Given the description of an element on the screen output the (x, y) to click on. 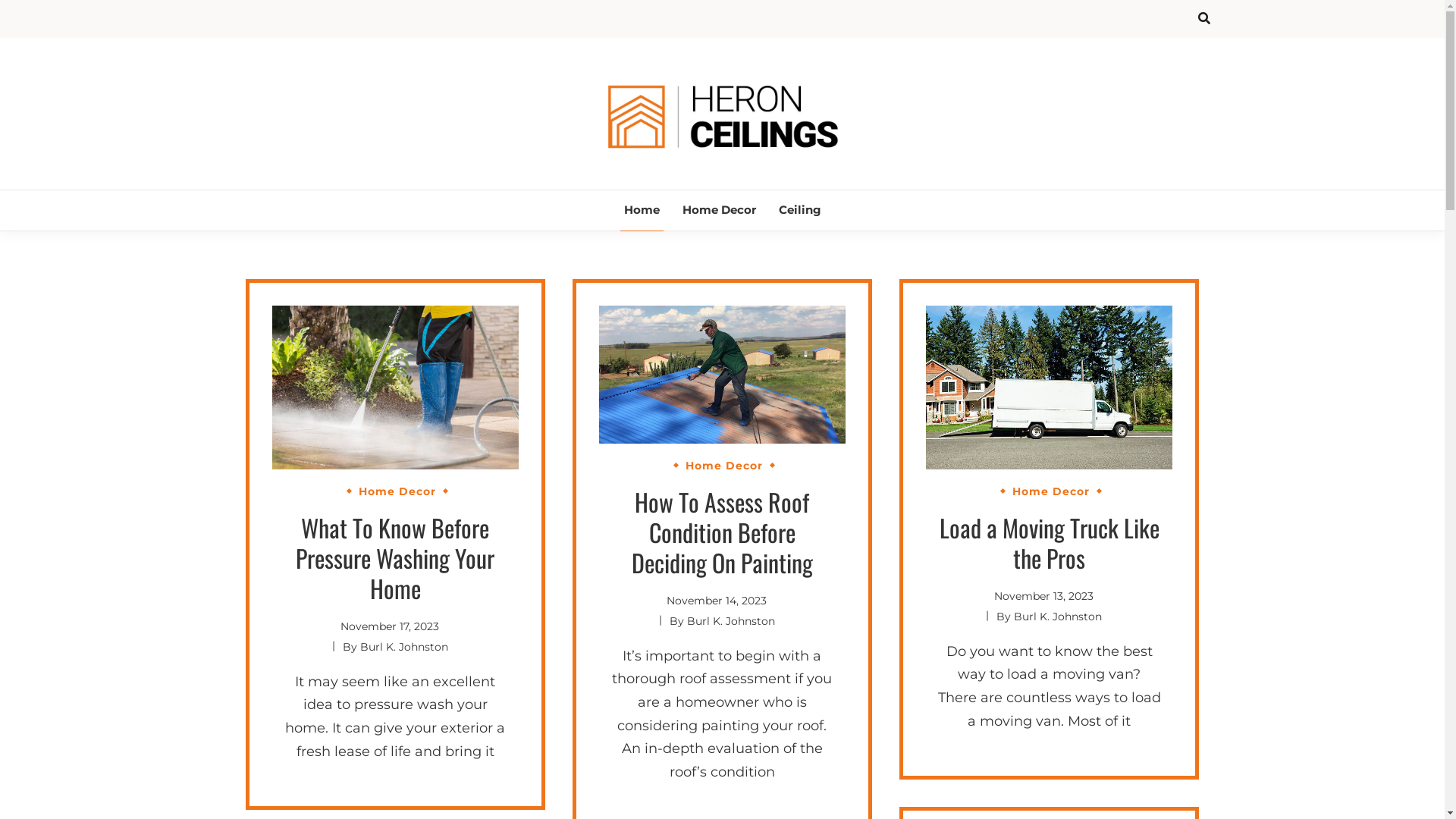
November 17, 2023 Element type: text (389, 626)
Home Decor Element type: text (396, 491)
November 14, 2023 Element type: text (716, 600)
HERON CEILINGS Element type: text (796, 189)
November 13, 2023 Element type: text (1043, 595)
Load a Moving Truck Like the Pros Element type: text (1049, 542)
Ceiling Element type: text (800, 210)
Burl K. Johnston Element type: text (404, 646)
Home Decor Element type: text (723, 465)
Home Decor Element type: text (1050, 491)
What To Know Before Pressure Washing Your Home Element type: text (394, 557)
Burl K. Johnston Element type: text (1057, 616)
Home Element type: text (641, 210)
Home Decor Element type: text (718, 210)
Burl K. Johnston Element type: text (731, 620)
How To Assess Roof Condition Before Deciding On Painting Element type: text (721, 531)
